Given the description of an element on the screen output the (x, y) to click on. 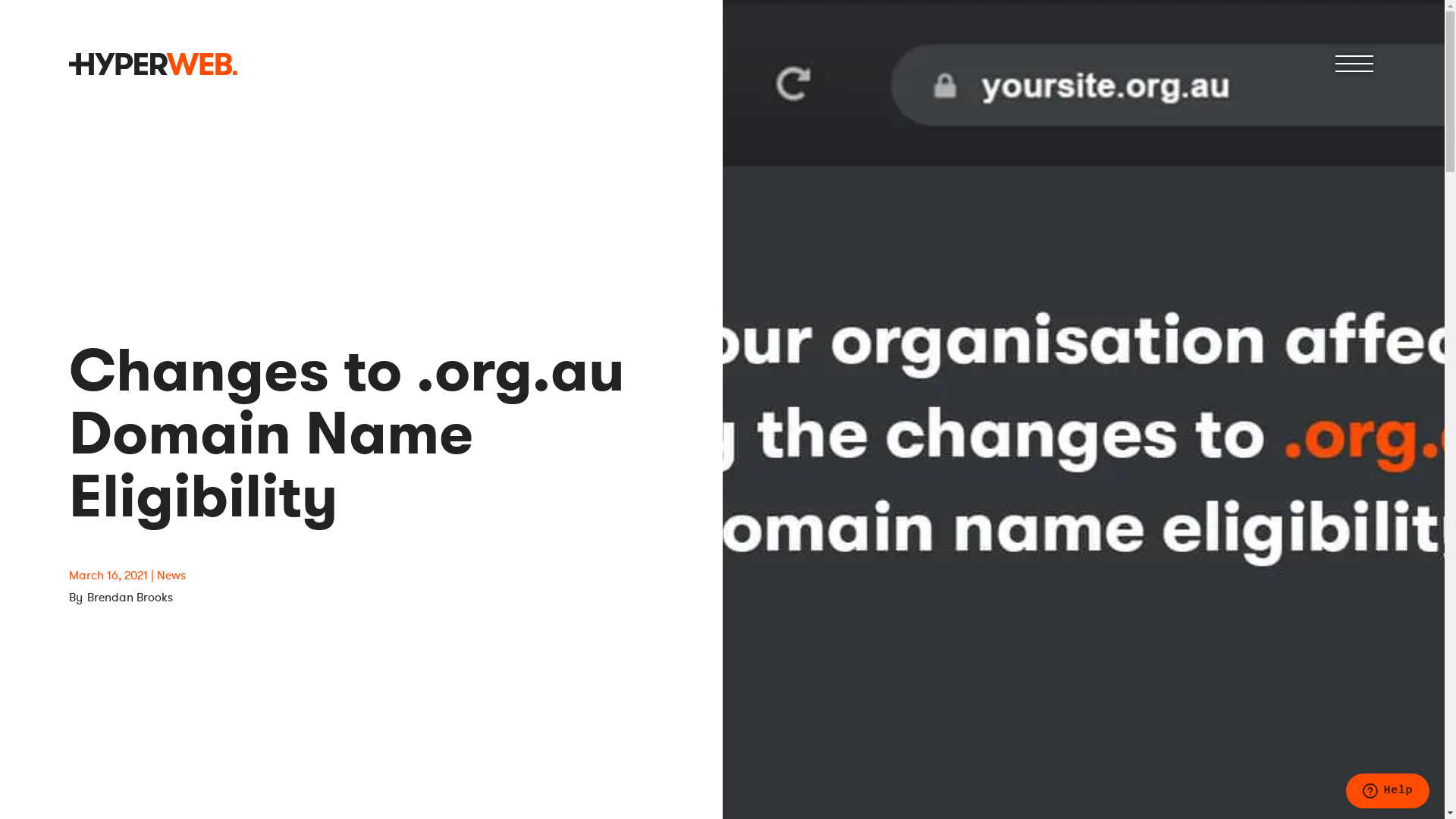
Opens a widget where you can chat to one of our agents Element type: hover (1387, 792)
News Element type: text (170, 575)
